Given the description of an element on the screen output the (x, y) to click on. 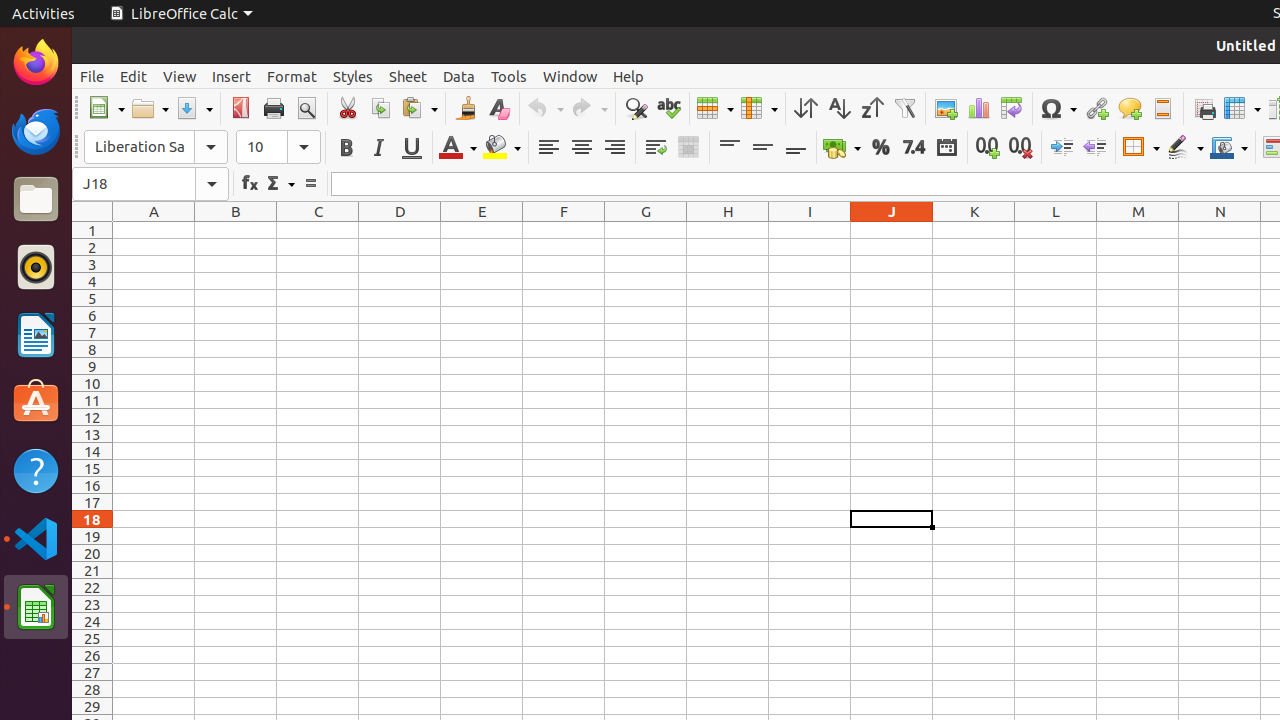
Clear Element type: push-button (498, 108)
Date Element type: push-button (946, 147)
View Element type: menu (179, 76)
Select Function Element type: push-button (280, 183)
Font Name Element type: panel (156, 147)
